Given the description of an element on the screen output the (x, y) to click on. 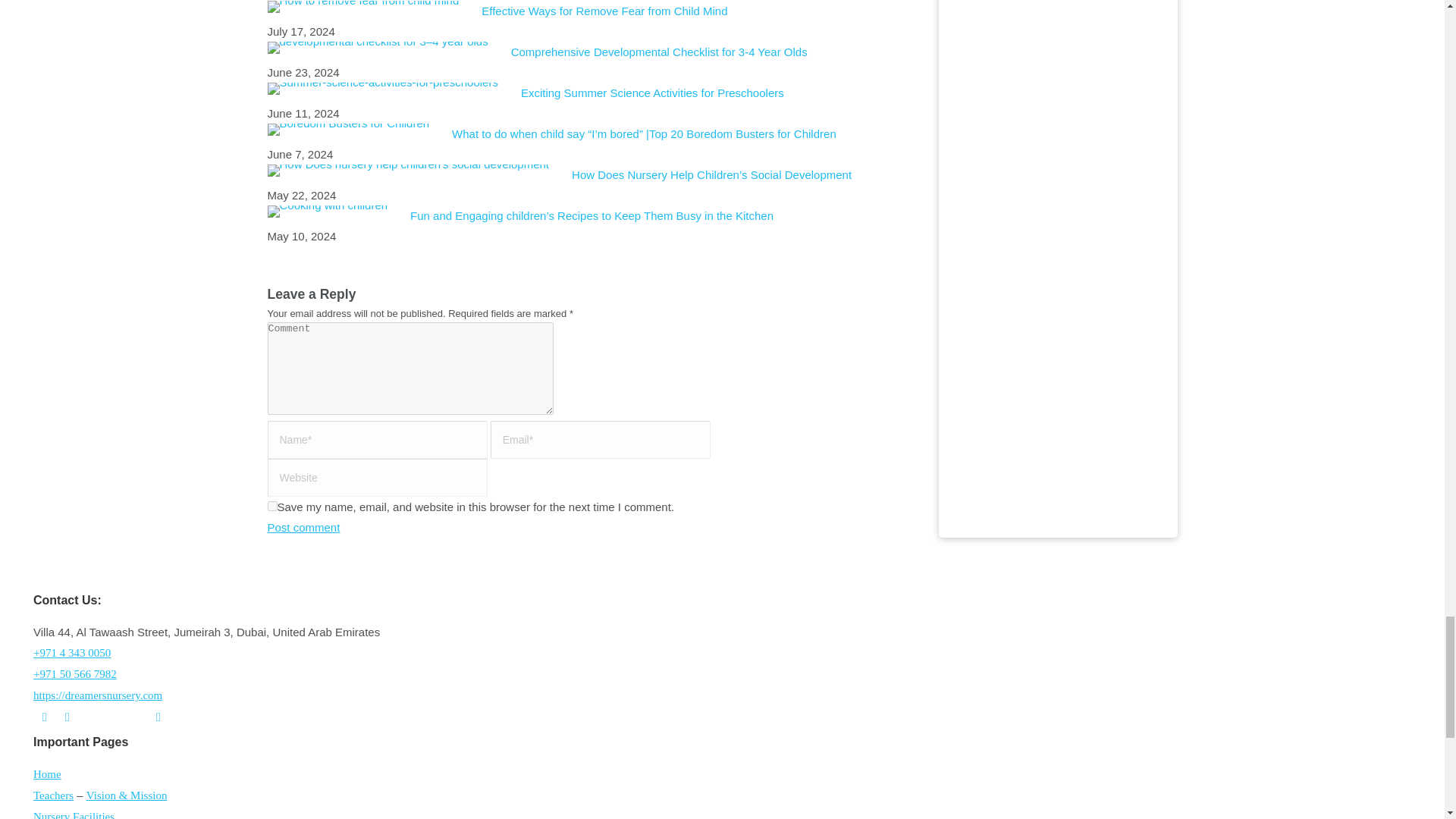
The Little Dreamers Nursery (97, 695)
yes (271, 506)
